Given the description of an element on the screen output the (x, y) to click on. 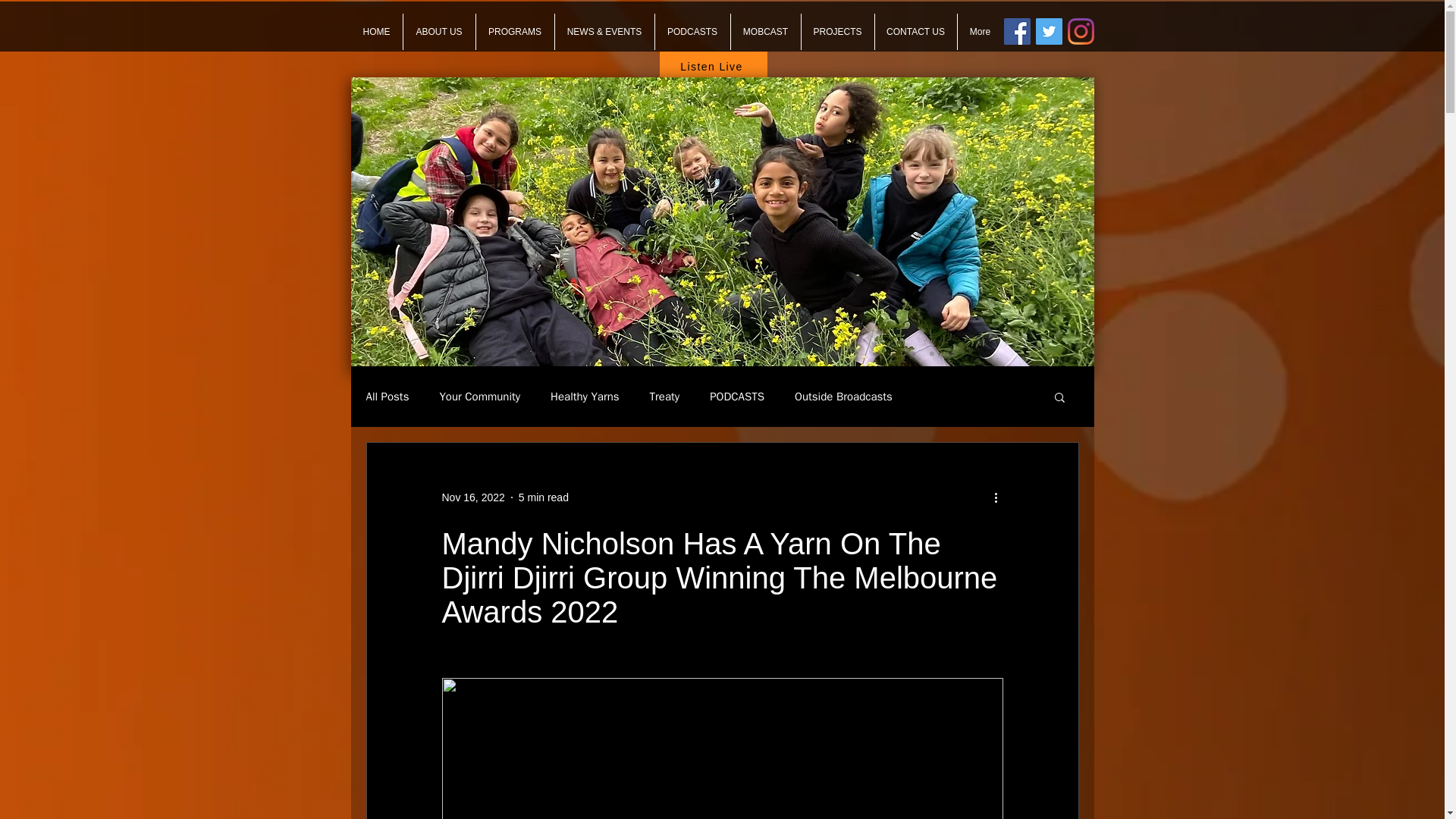
PROGRAMS (515, 31)
5 min read (543, 497)
Listen Live (713, 66)
PROJECTS (836, 31)
Nov 16, 2022 (472, 497)
ABOUT US (439, 31)
CONTACT US (915, 31)
MOBCAST (765, 31)
HOME (375, 31)
PODCASTS (692, 31)
